Given the description of an element on the screen output the (x, y) to click on. 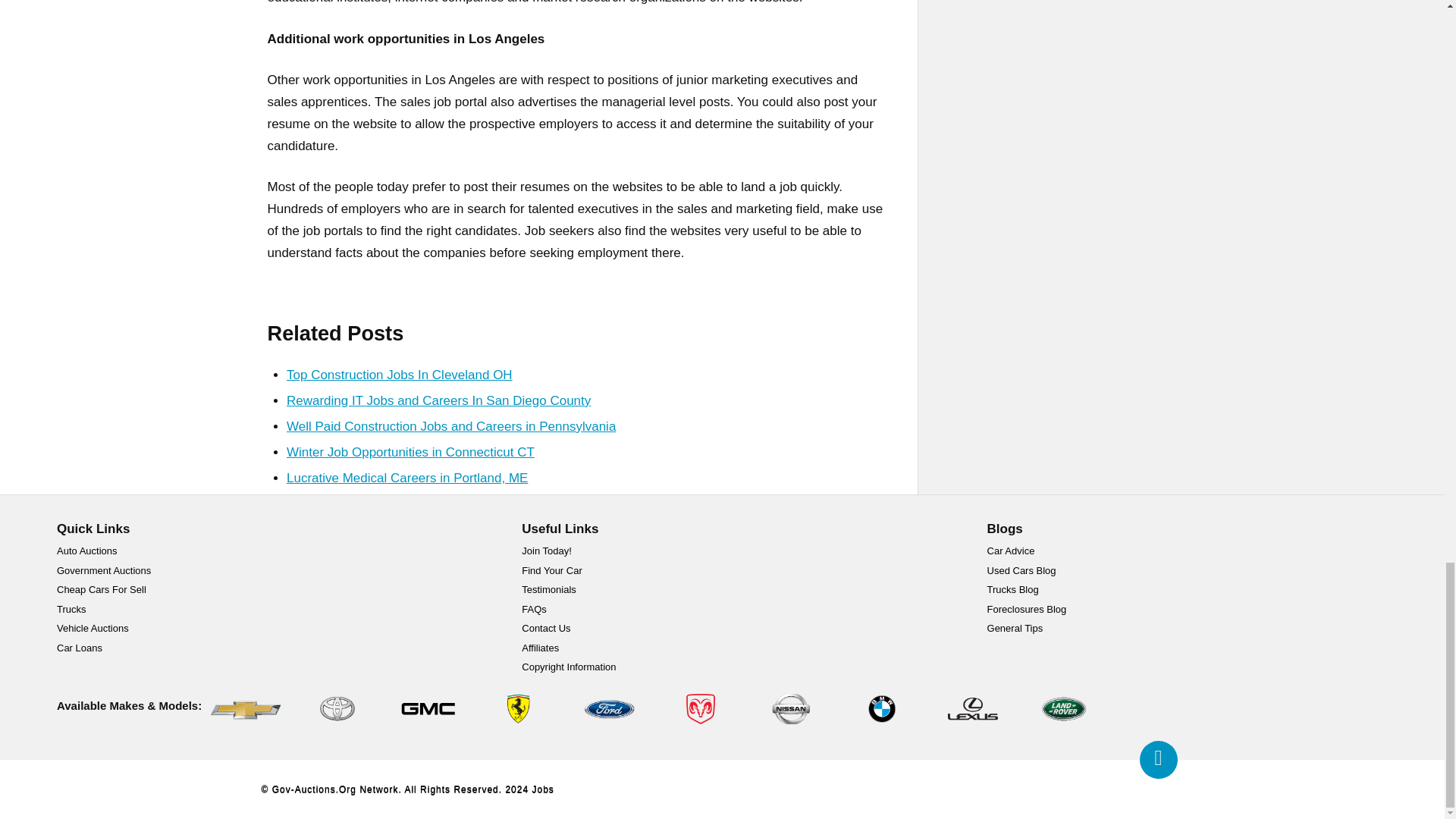
Rewarding IT Jobs and Careers In San Diego County (438, 400)
Lucrative Medical Careers in Portland, ME (406, 477)
Top Construction Jobs In Cleveland OH (399, 374)
Winter Job Opportunities in Connecticut CT (410, 452)
Well Paid Construction Jobs and Careers in Pennsylvania (450, 426)
